Given the description of an element on the screen output the (x, y) to click on. 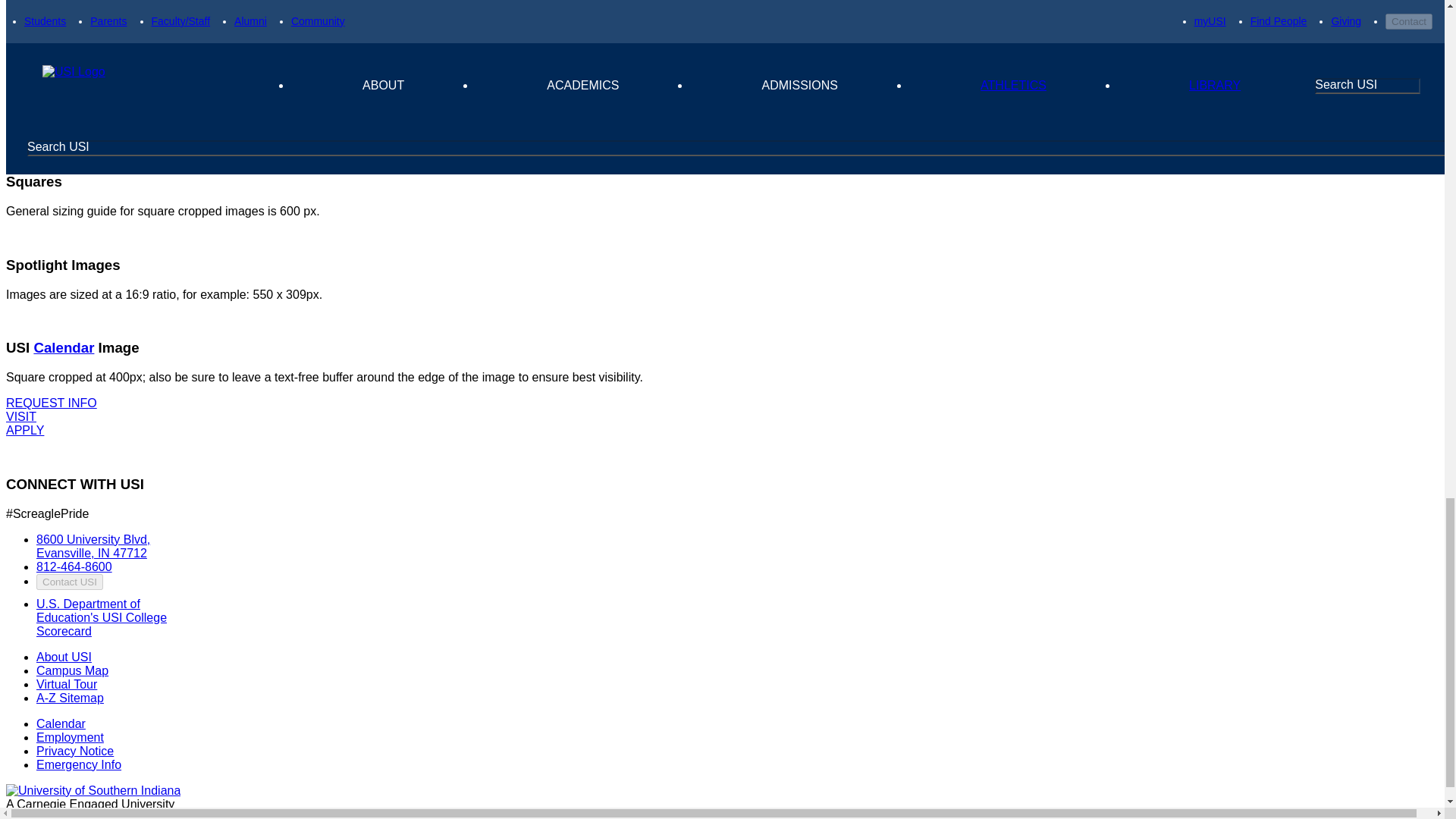
University of Southern Indiana (92, 790)
